Given the description of an element on the screen output the (x, y) to click on. 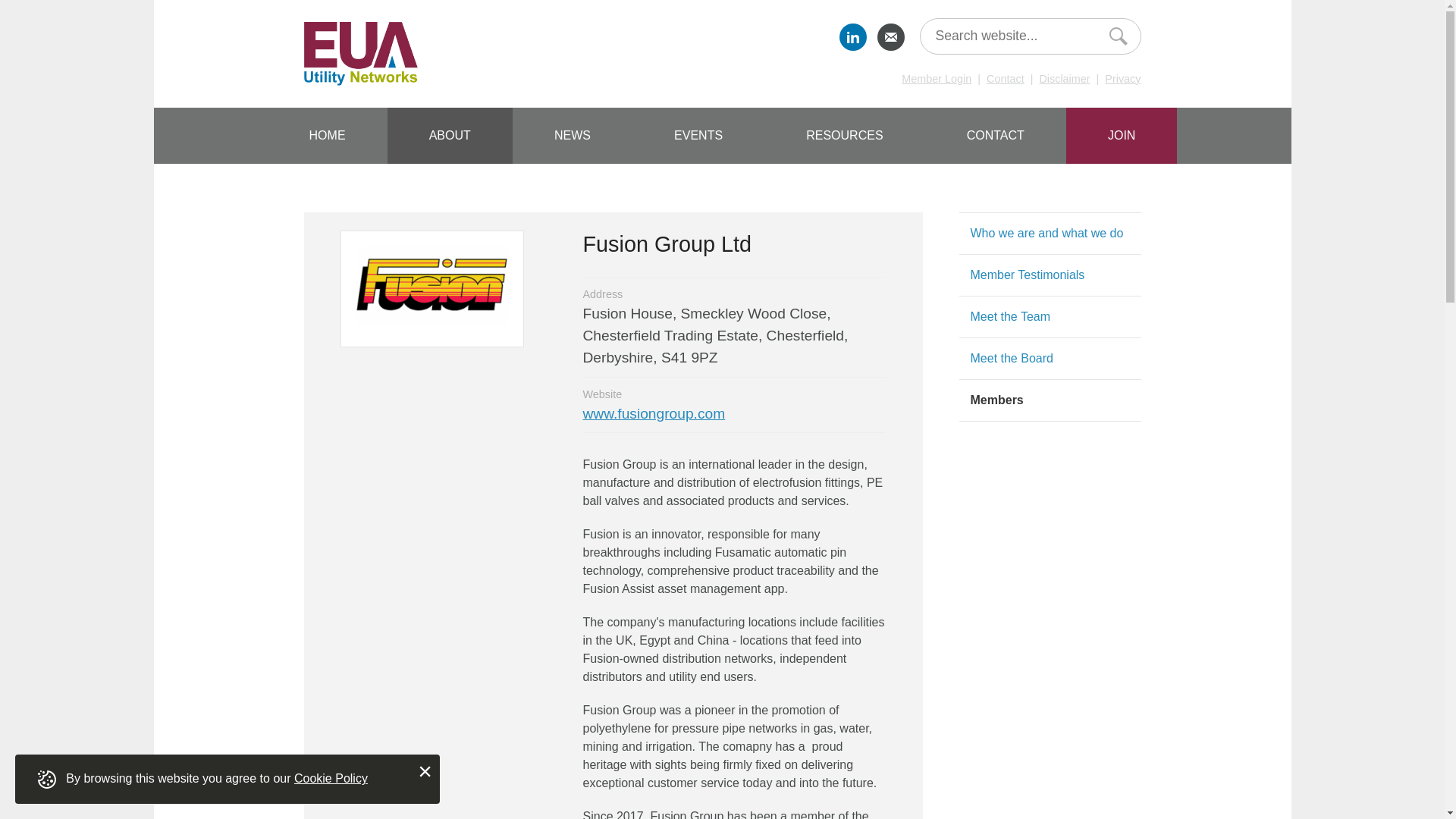
NEWS (571, 135)
Meet the Board (1011, 358)
Privacy (1122, 78)
CONTACT (994, 135)
Disclaimer (1064, 78)
Member Testimonials (1027, 274)
HOME (326, 135)
Meet the Team (1011, 316)
Who we are and what we do (1047, 232)
Member Login (936, 78)
